Given the description of an element on the screen output the (x, y) to click on. 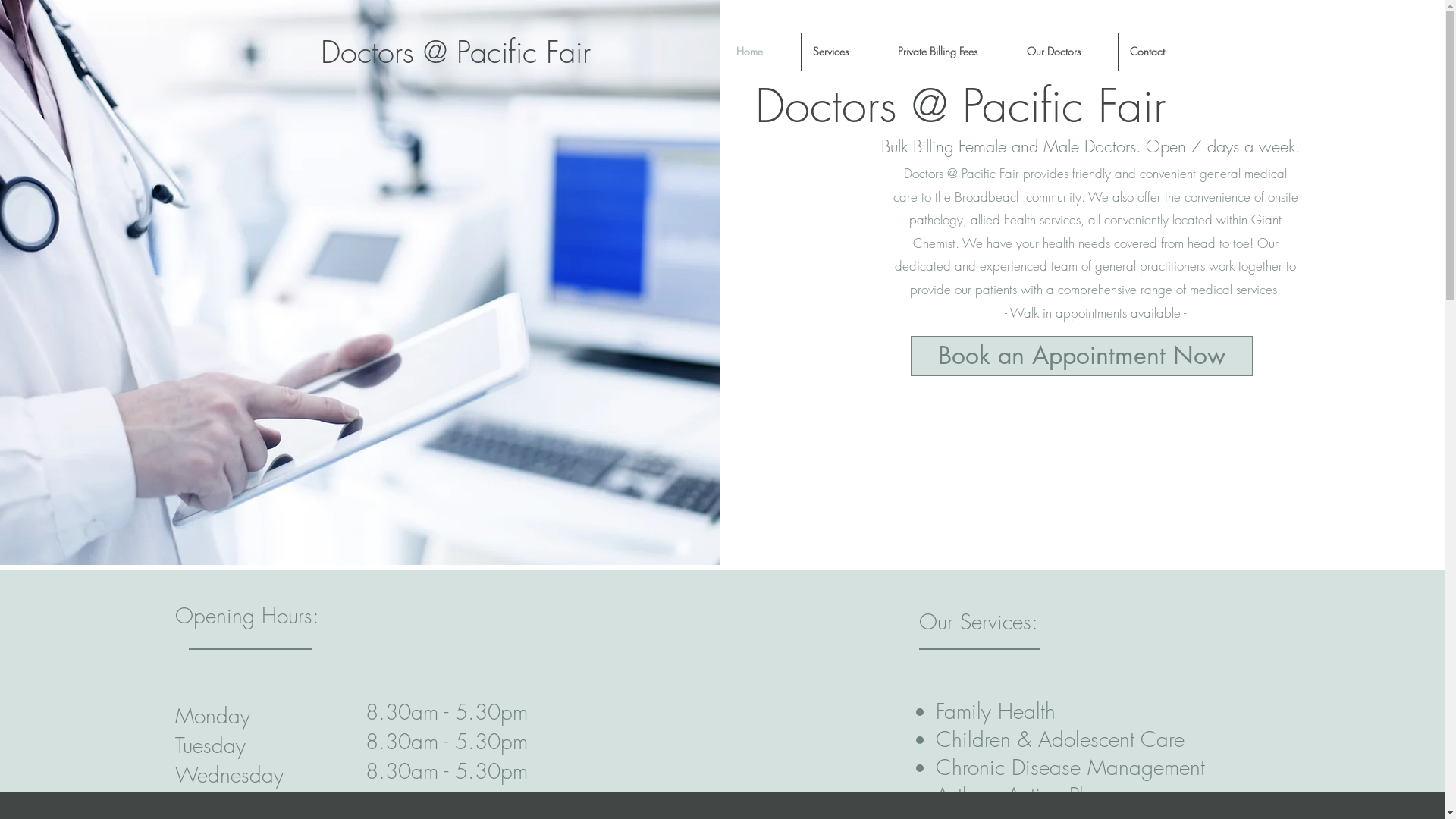
Private Billing Fees Element type: text (949, 51)
Our Doctors Element type: text (1065, 51)
Contact Element type: text (1159, 51)
Home Element type: text (762, 51)
Book an Appointment Now Element type: text (1081, 355)
Services Element type: text (842, 51)
